Given the description of an element on the screen output the (x, y) to click on. 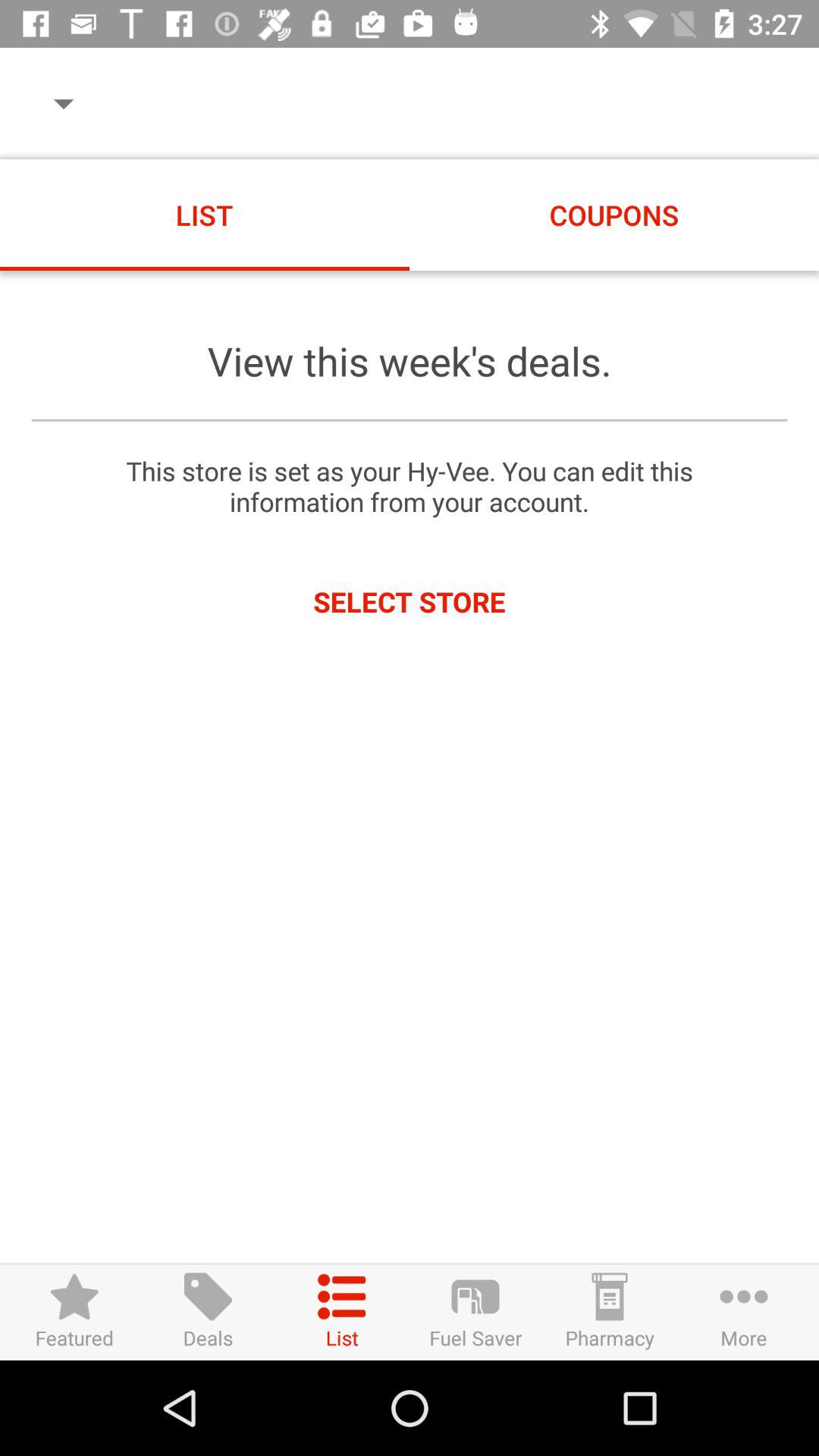
click the button on the right next to the list button on the web page (475, 1311)
click on the more button (744, 1311)
click the button beside the more (609, 1311)
click the deals button on the web page (208, 1311)
button between the fuel and fuel saver (341, 1311)
